Given the description of an element on the screen output the (x, y) to click on. 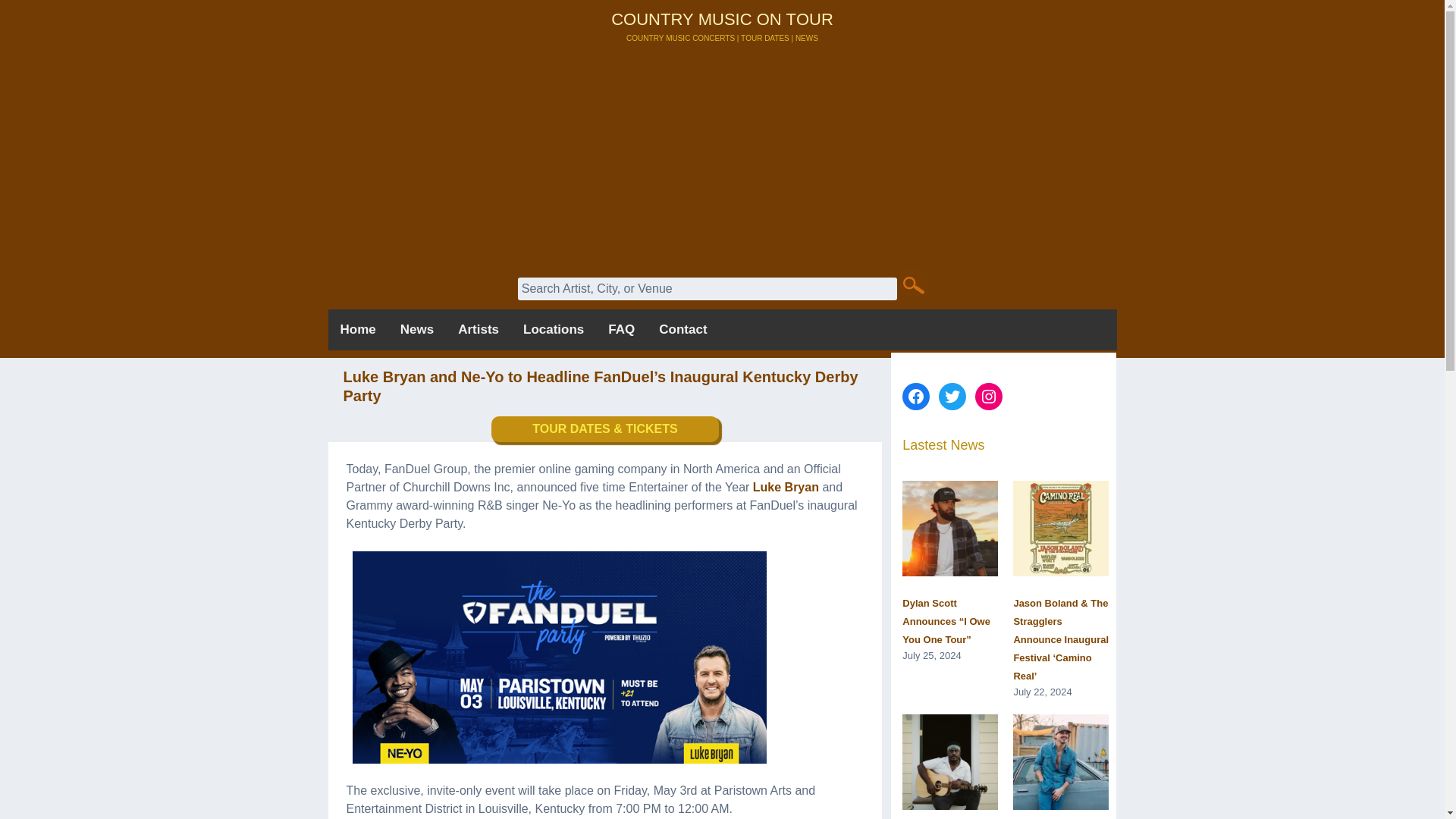
Search Artist, City, or Venue (707, 288)
Luke Bryan (785, 486)
News (416, 329)
Luke Bryan (785, 486)
Home (357, 329)
Artists (478, 329)
Search Artist, City, or Venue (707, 288)
FAQ (620, 329)
Locations (553, 329)
Contact (682, 329)
